Given the description of an element on the screen output the (x, y) to click on. 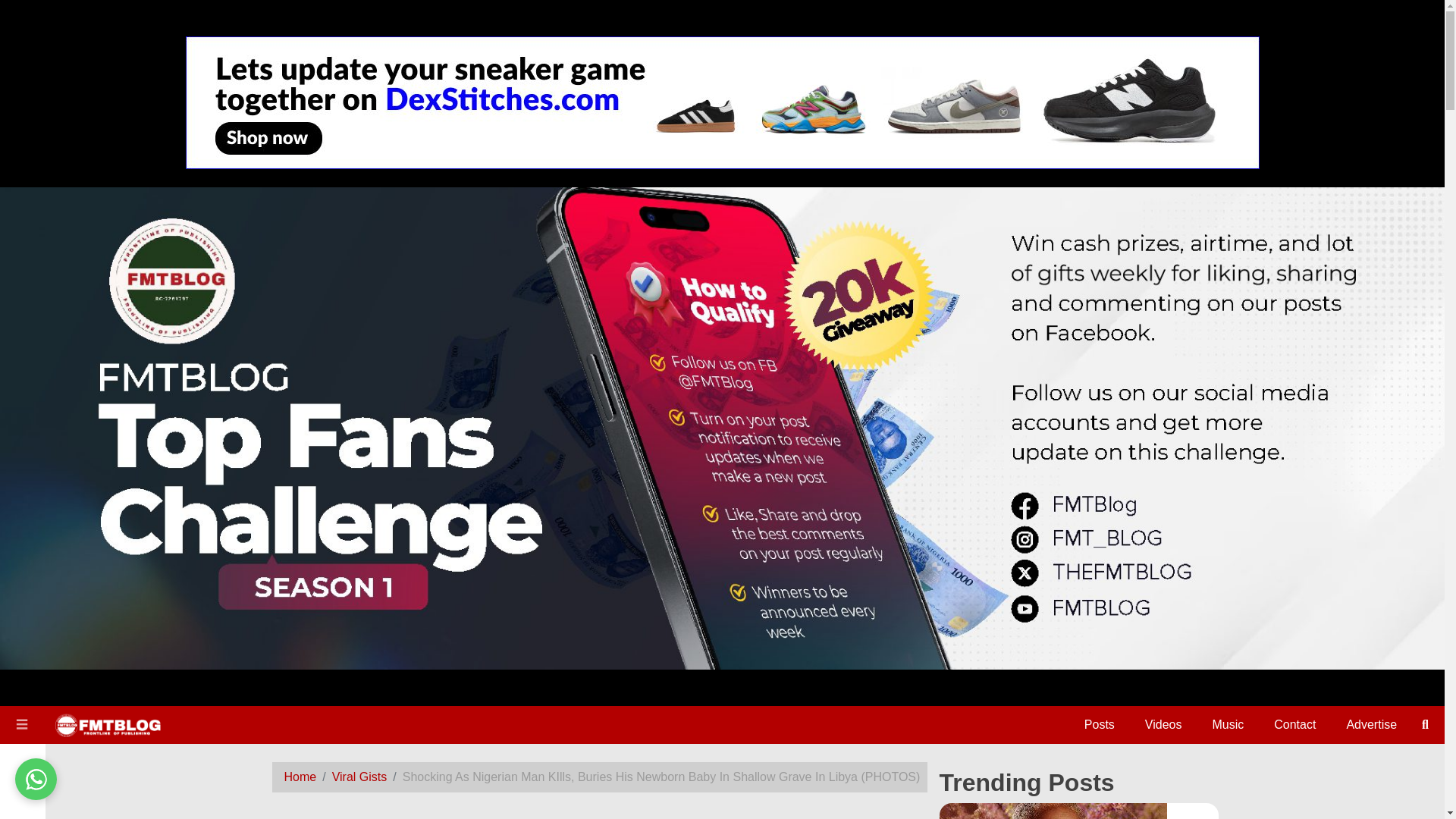
Music (22, 372)
movies (22, 420)
Posts (1098, 725)
Trending (22, 461)
Videos (1162, 725)
Posts (22, 325)
Advertise (1371, 725)
Contact (1294, 725)
Contact Us (22, 497)
Home (22, 284)
